Given the description of an element on the screen output the (x, y) to click on. 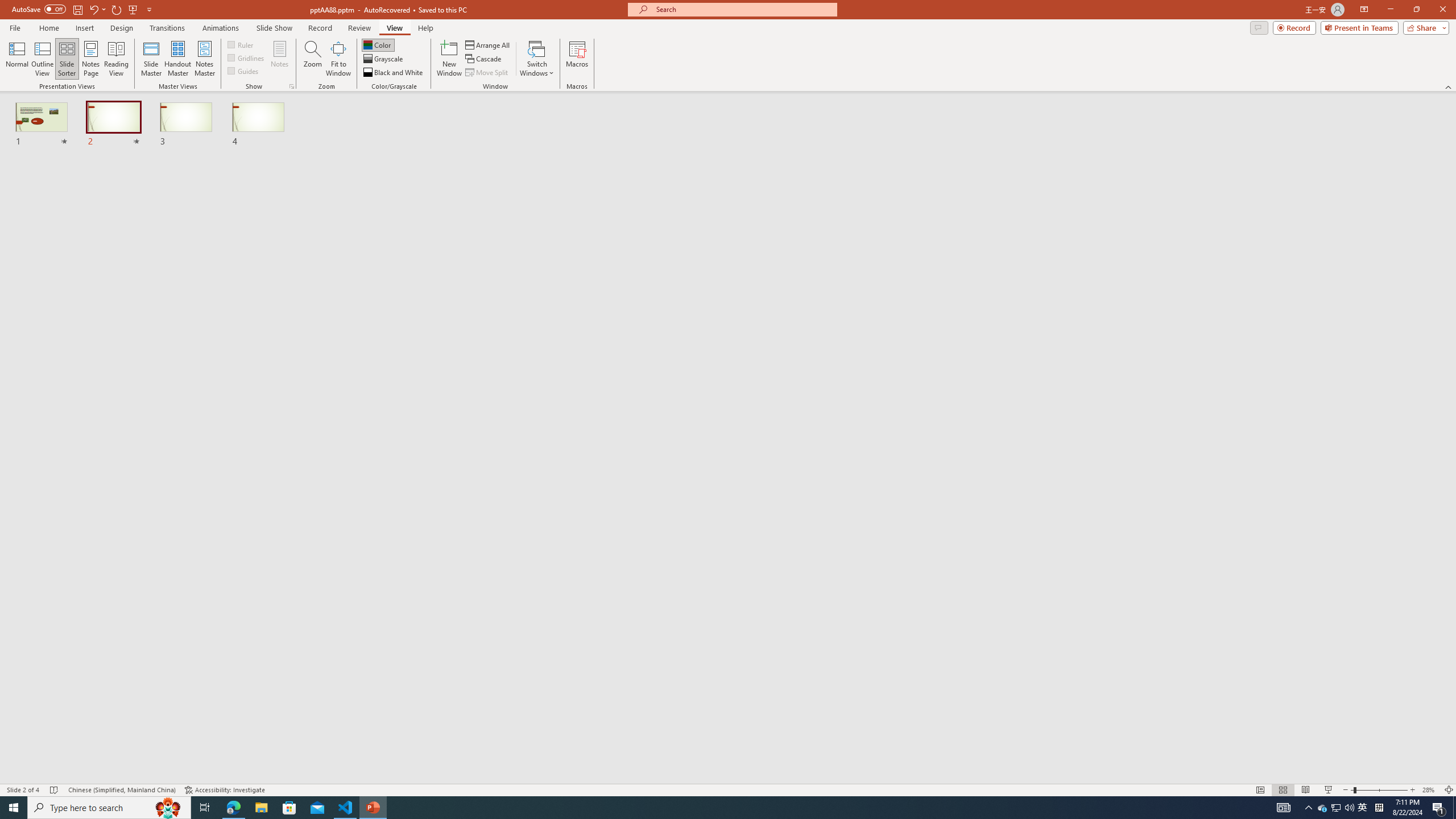
Zoom... (312, 58)
Fit to Window (338, 58)
Notes Master (204, 58)
